Given the description of an element on the screen output the (x, y) to click on. 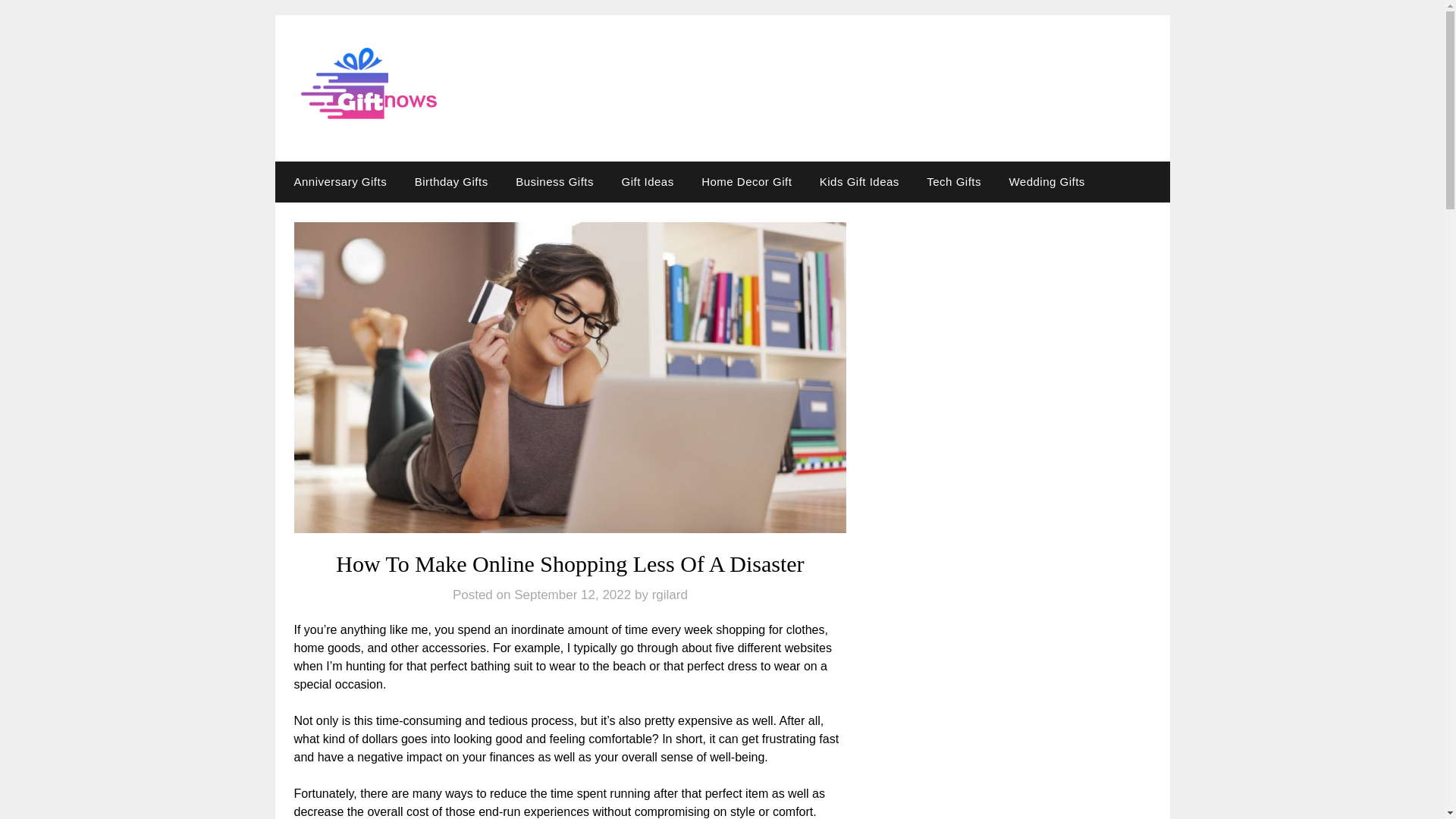
Birthday Gifts (451, 181)
Wedding Gifts (1045, 181)
Gift Ideas (646, 181)
Tech Gifts (953, 181)
September 12, 2022 (571, 594)
Anniversary Gifts (336, 181)
Home Decor Gift (745, 181)
Kids Gift Ideas (859, 181)
Business Gifts (554, 181)
rgilard (669, 594)
